Given the description of an element on the screen output the (x, y) to click on. 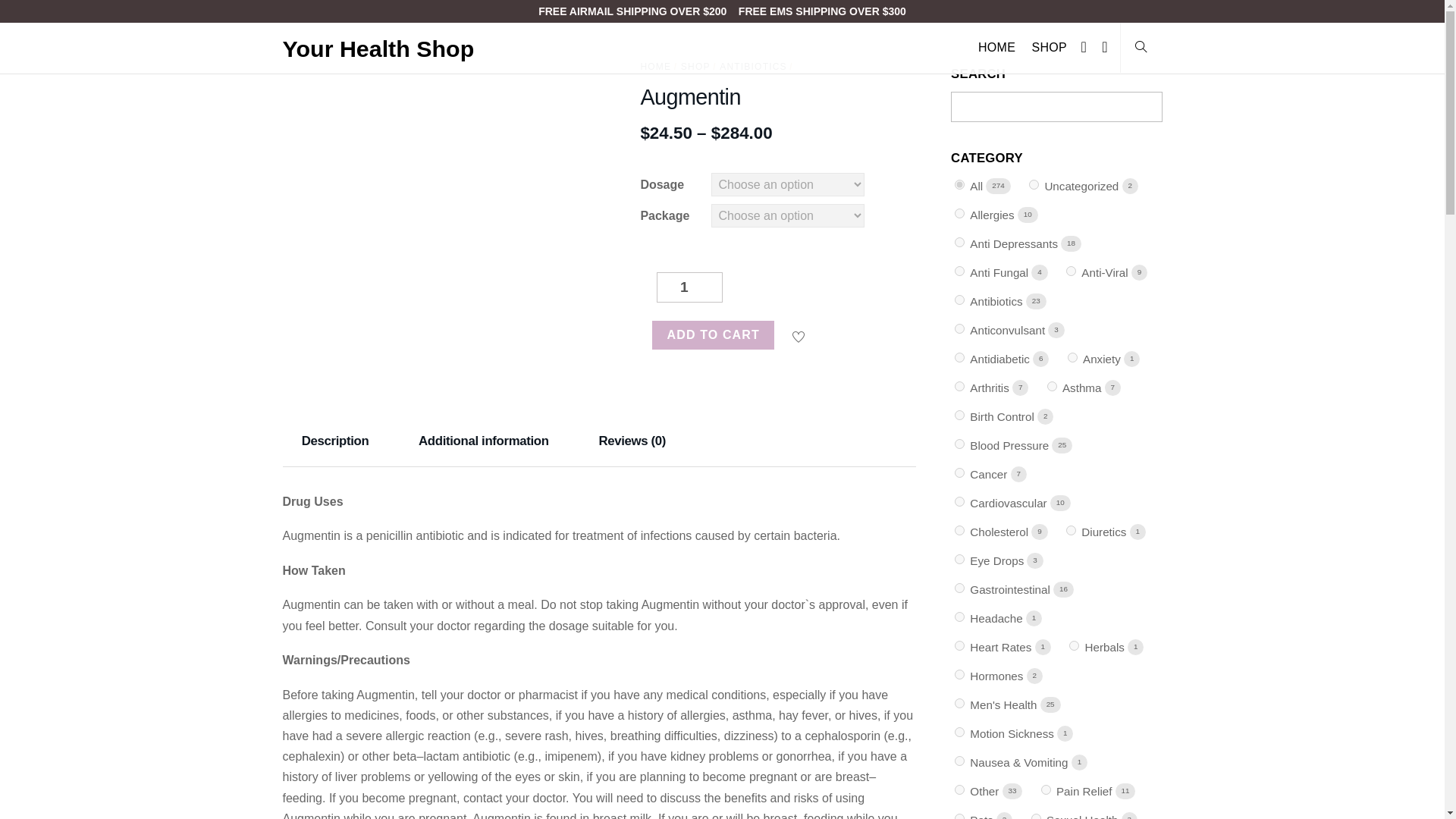
birth-control (959, 415)
HOME (997, 47)
antibiotics (959, 299)
Your Health Shop (378, 47)
uncategorized (1034, 184)
anti-fungal (959, 271)
Your Health Shop (378, 47)
blood-pressure (959, 443)
SHOP (1048, 47)
arthritis (959, 386)
